Given the description of an element on the screen output the (x, y) to click on. 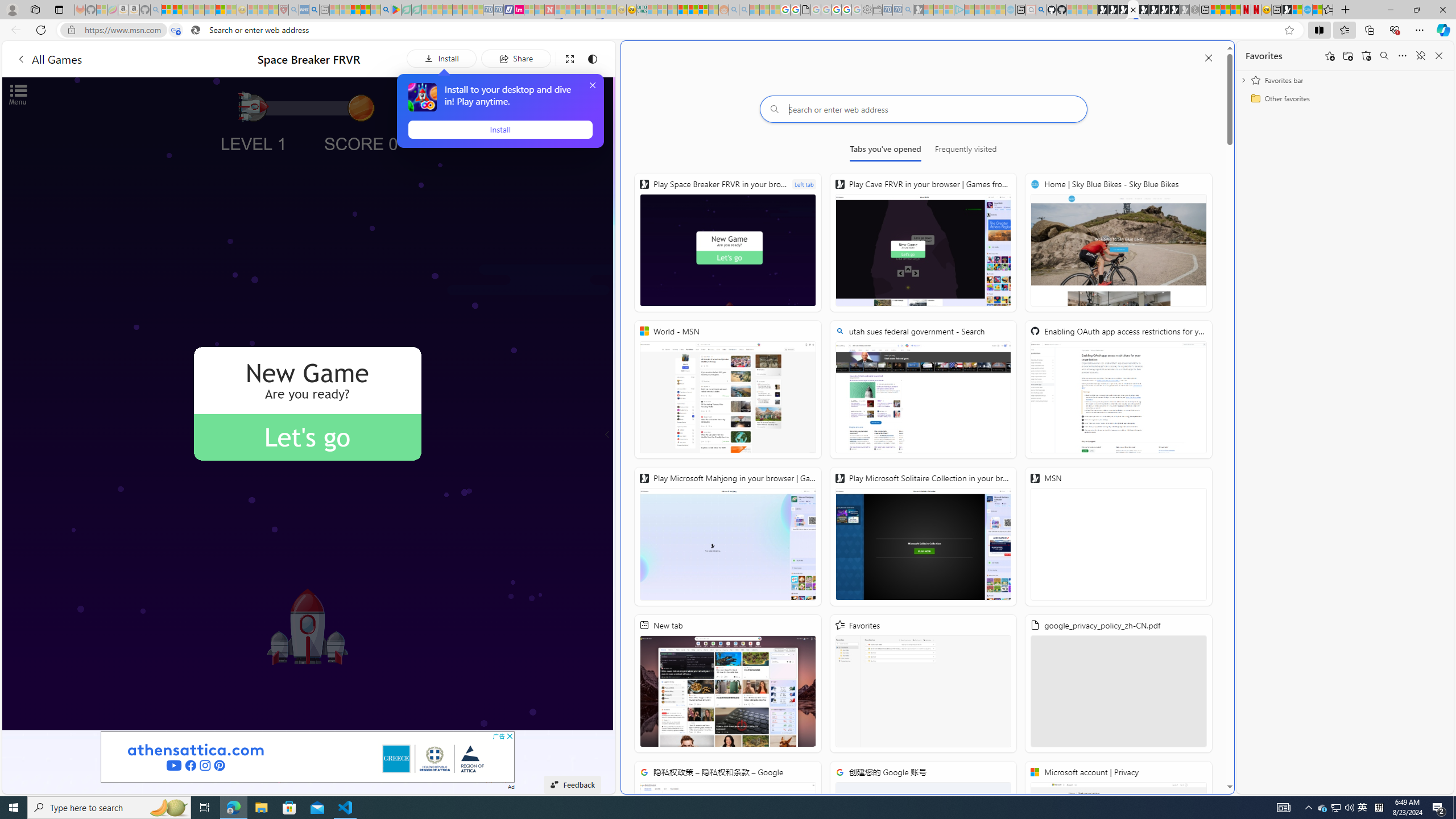
AutomationID: cbb (509, 736)
Close split screen (1208, 57)
Search favorites (1383, 55)
Bing Real Estate - Home sales and rental listings - Sleeping (907, 9)
google - Search (385, 9)
Kinda Frugal - MSN (692, 9)
